Given the description of an element on the screen output the (x, y) to click on. 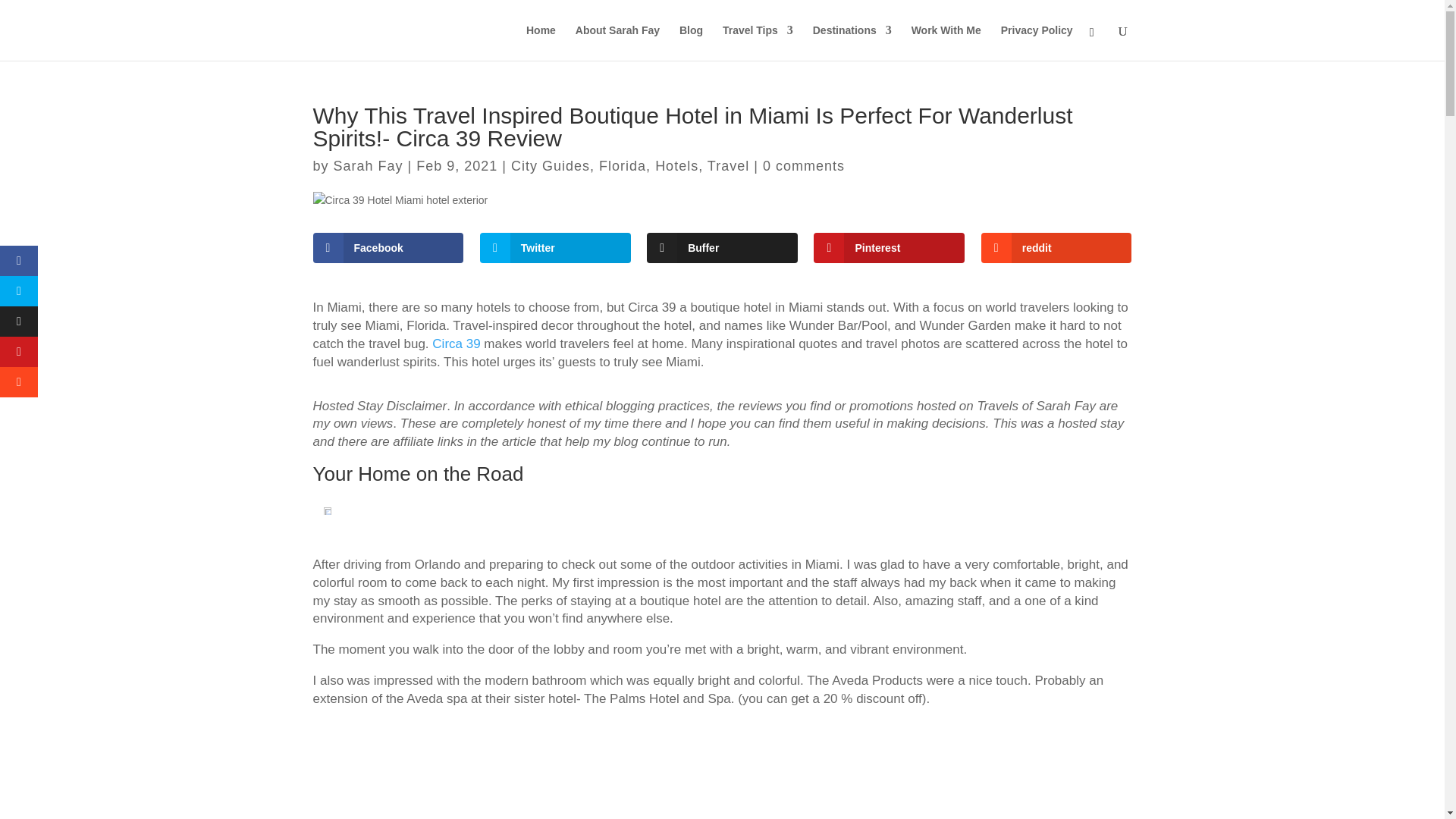
reddit (1056, 247)
Facebook (388, 247)
Buffer (721, 247)
About Sarah Fay (617, 42)
Twitter (555, 247)
Posts by Sarah Fay (368, 165)
Privacy Policy (1037, 42)
Hotels (676, 165)
Florida (622, 165)
Circa 39 (456, 343)
